Given the description of an element on the screen output the (x, y) to click on. 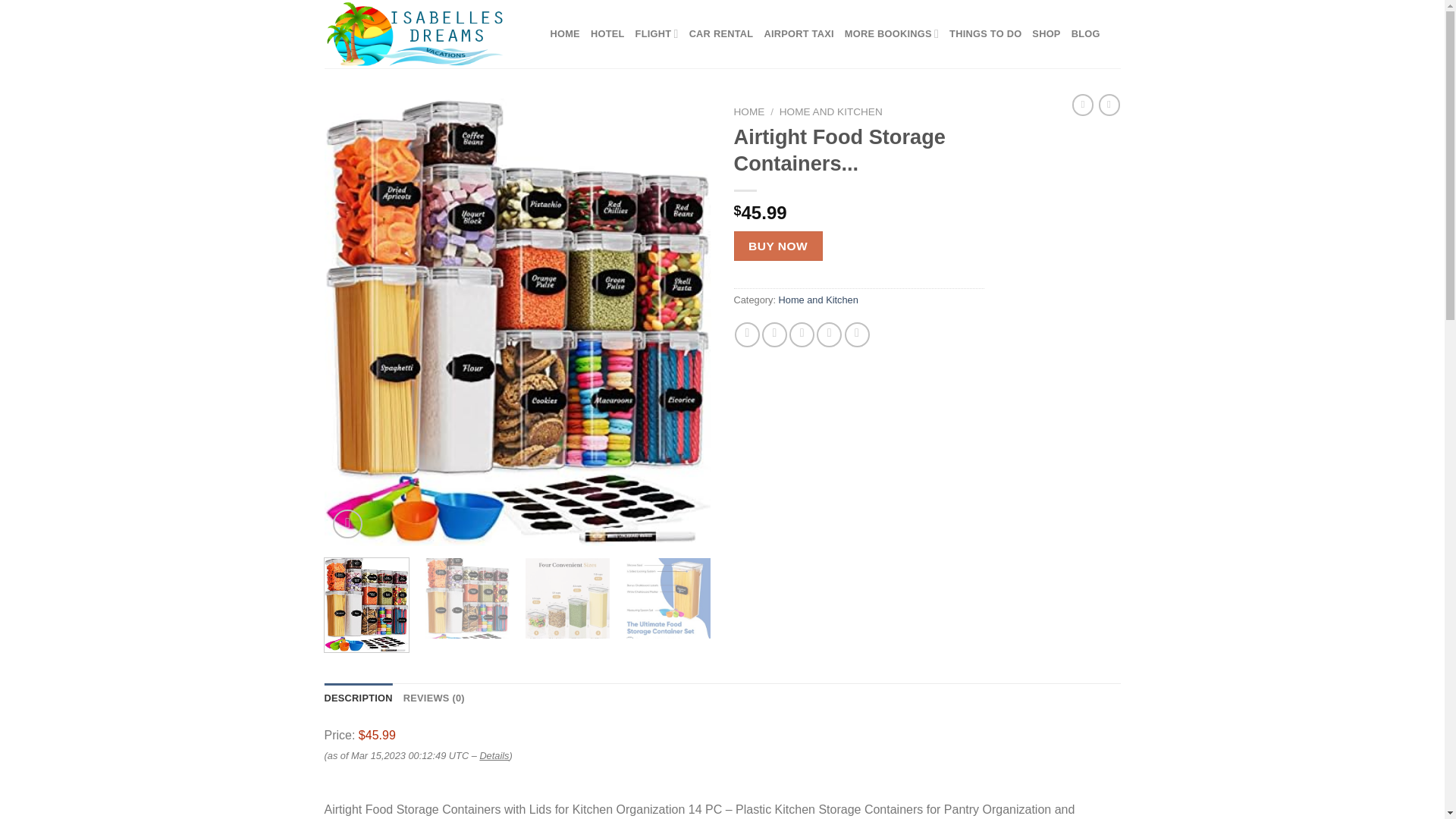
HOME (749, 111)
Isabelle's Dreams (425, 33)
FLIGHT (656, 33)
HOME (564, 33)
THINGS TO DO (985, 33)
Zoom (347, 523)
BLOG (1085, 33)
Share on Facebook (747, 334)
AIRPORT TAXI (797, 33)
MORE BOOKINGS (891, 33)
